Given the description of an element on the screen output the (x, y) to click on. 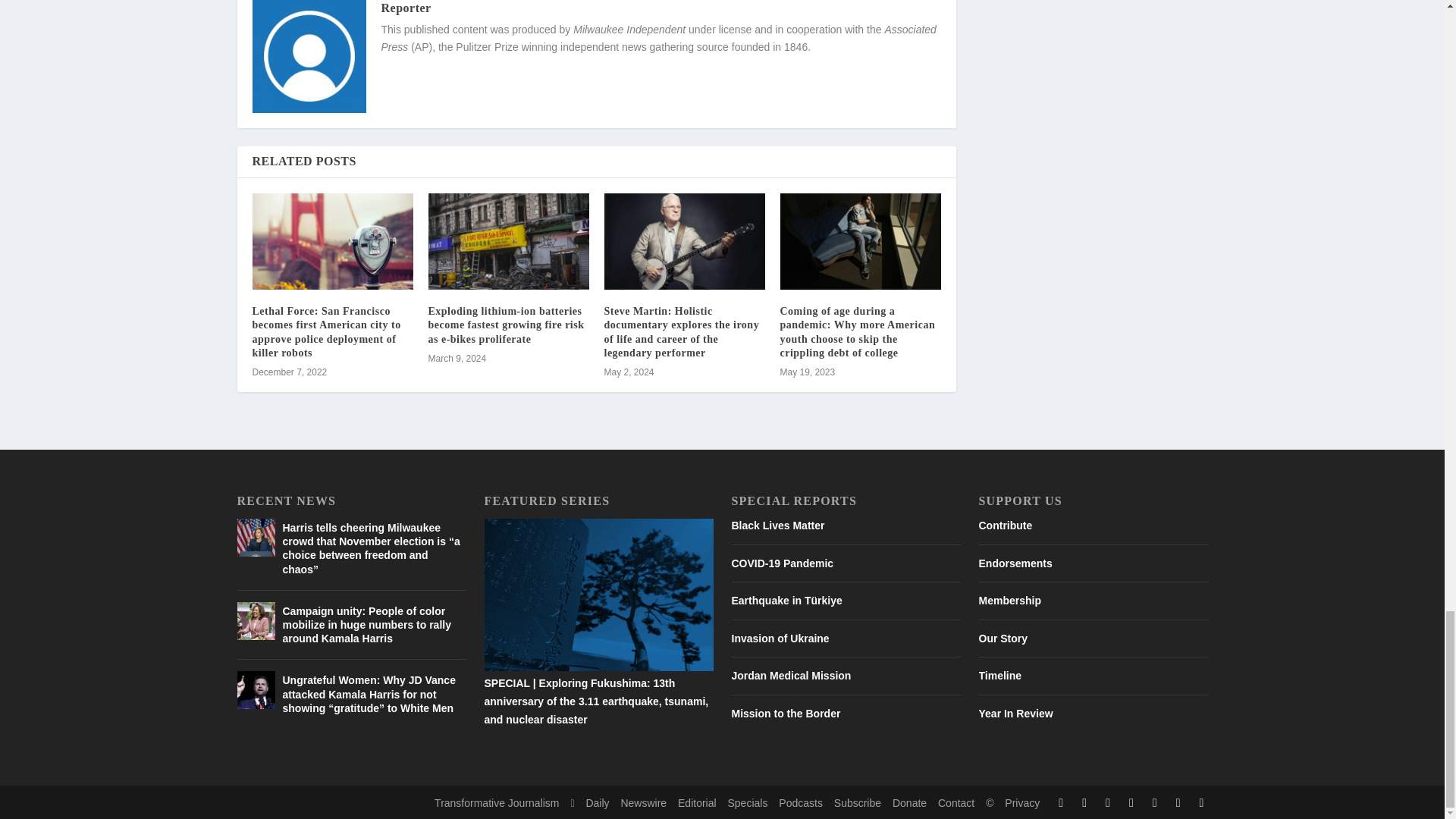
View all posts by Reporter (405, 7)
